Given the description of an element on the screen output the (x, y) to click on. 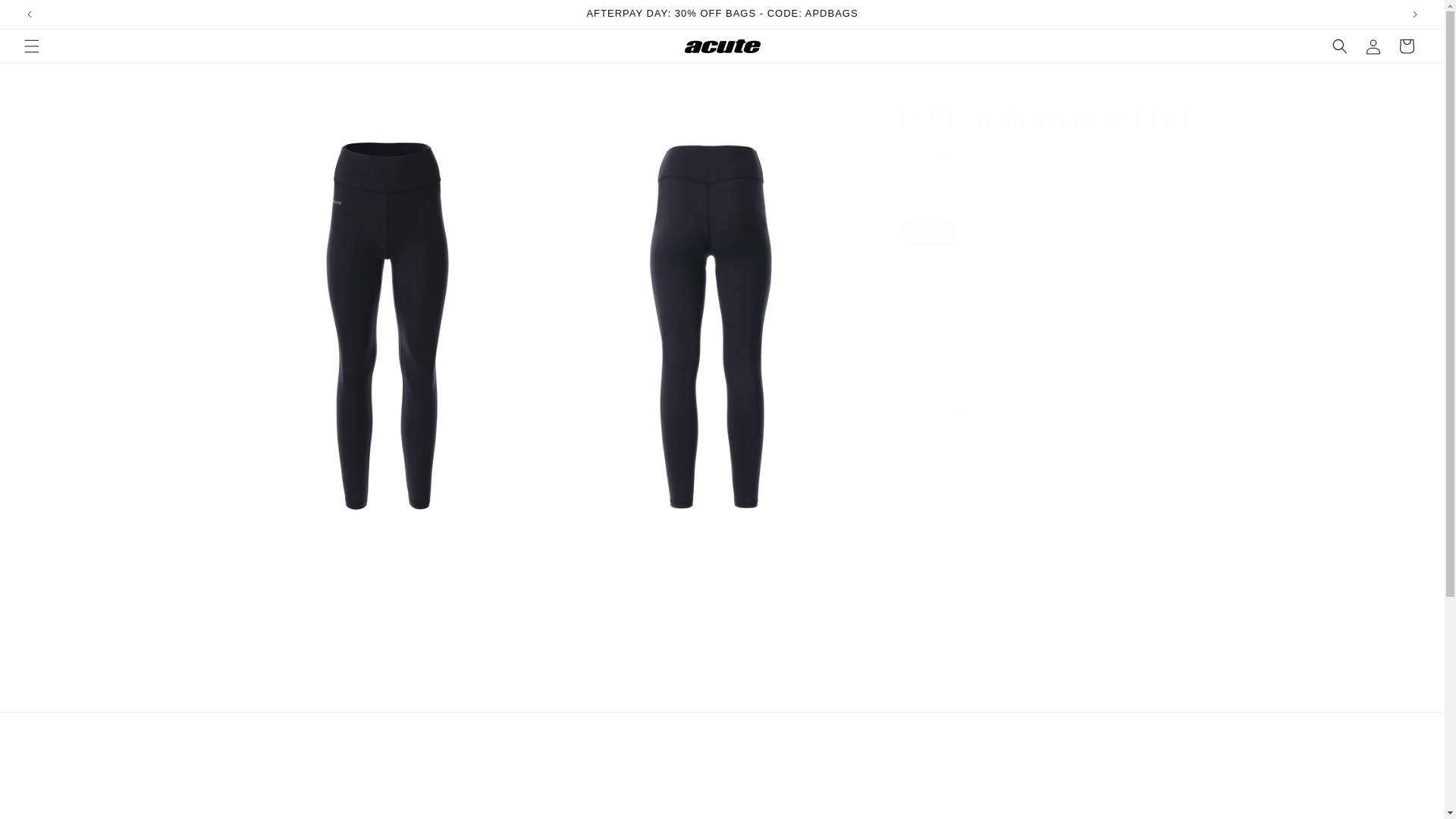
Skip to product information (274, 104)
Skip to content (45, 17)
